Given the description of an element on the screen output the (x, y) to click on. 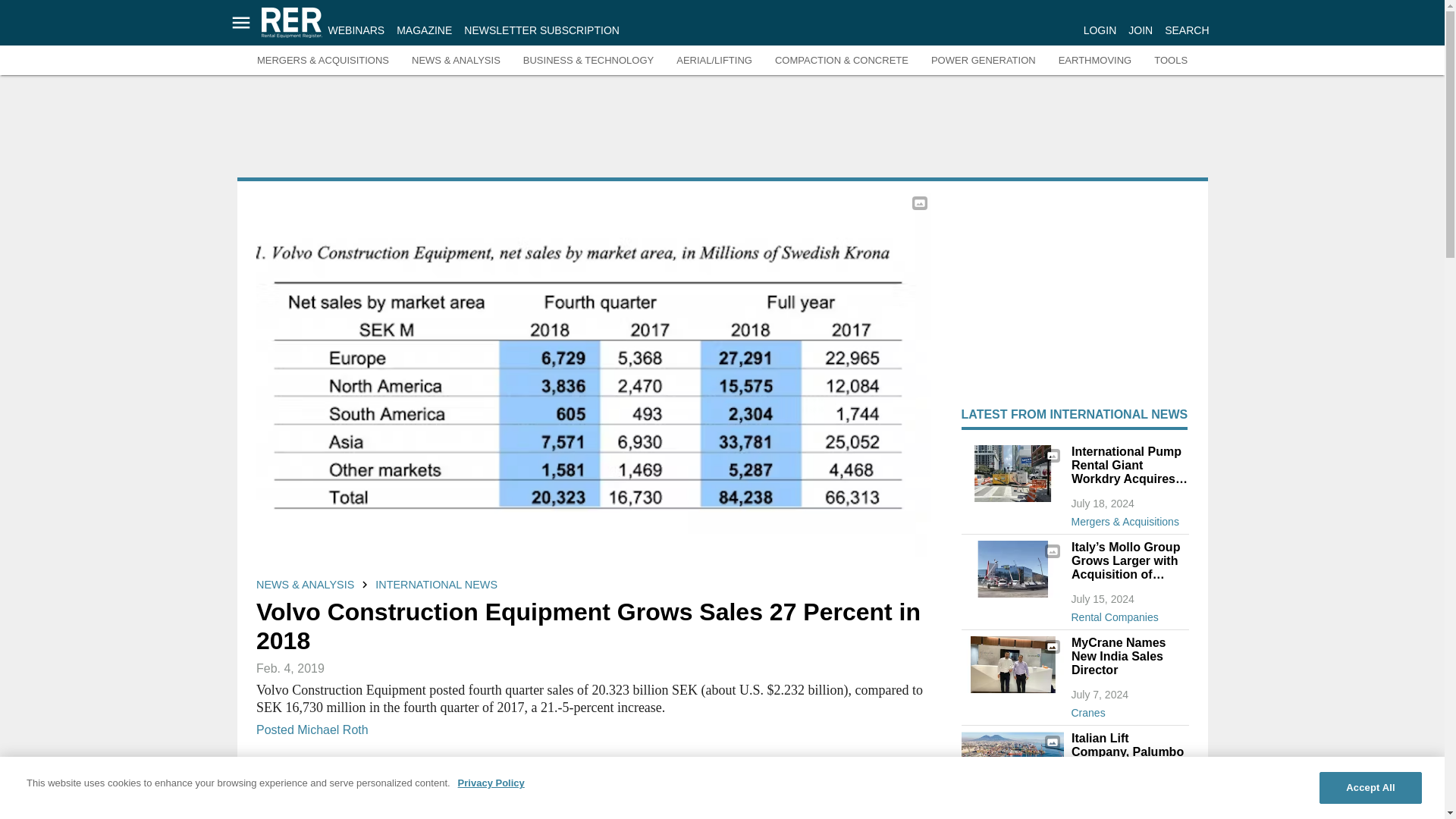
NEWSLETTER SUBSCRIPTION (542, 30)
WEBINARS (355, 30)
INTERNATIONAL NEWS (436, 584)
3rd party ad content (722, 131)
LOGIN (1099, 30)
3rd party ad content (1074, 287)
Posted Michael Roth (312, 728)
EARTHMOVING (1095, 60)
TOOLS (1171, 60)
POWER GENERATION (983, 60)
MAGAZINE (423, 30)
SEARCH (1186, 30)
JOIN (1140, 30)
